Given the description of an element on the screen output the (x, y) to click on. 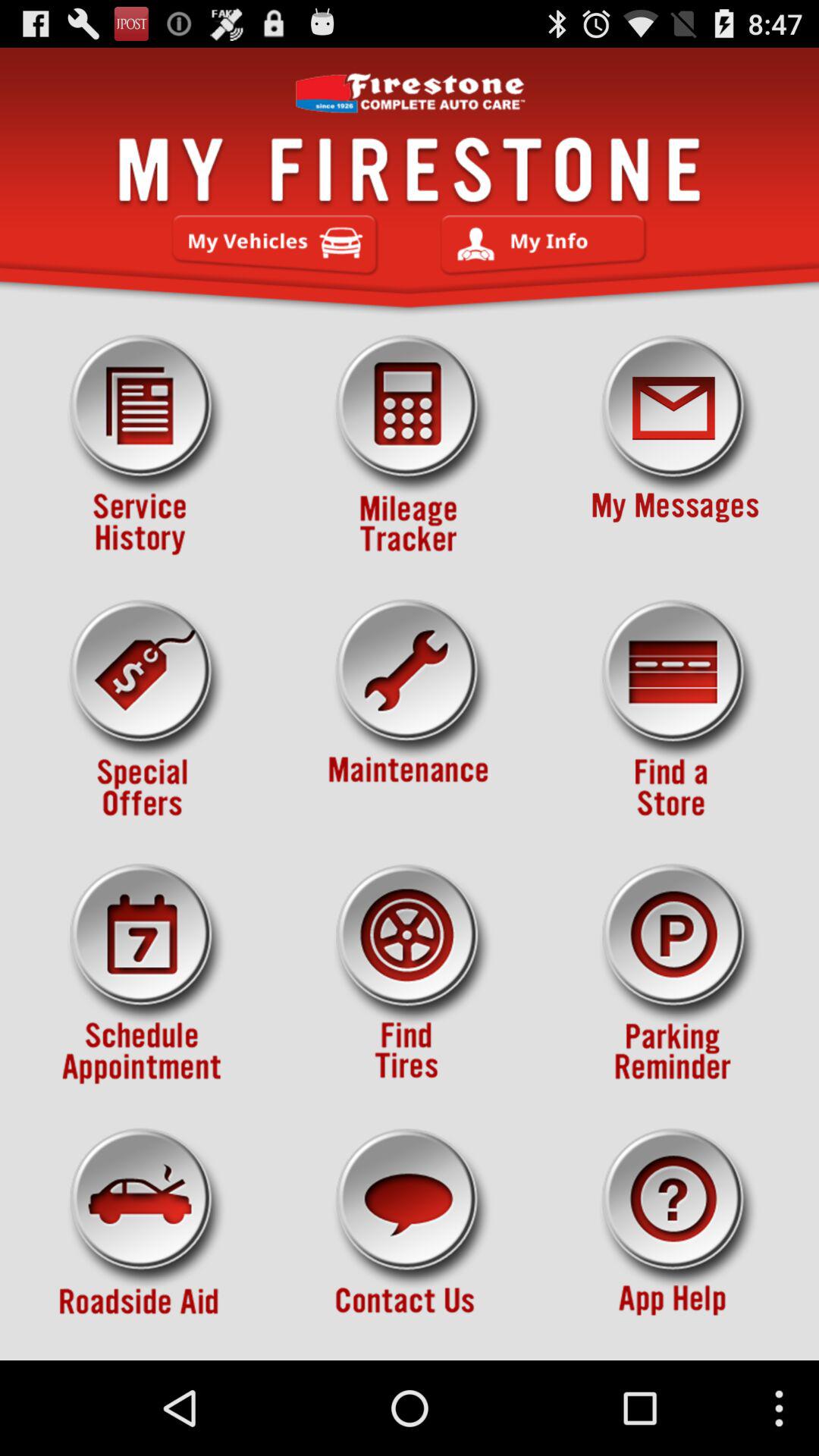
my messages icon (675, 445)
